Given the description of an element on the screen output the (x, y) to click on. 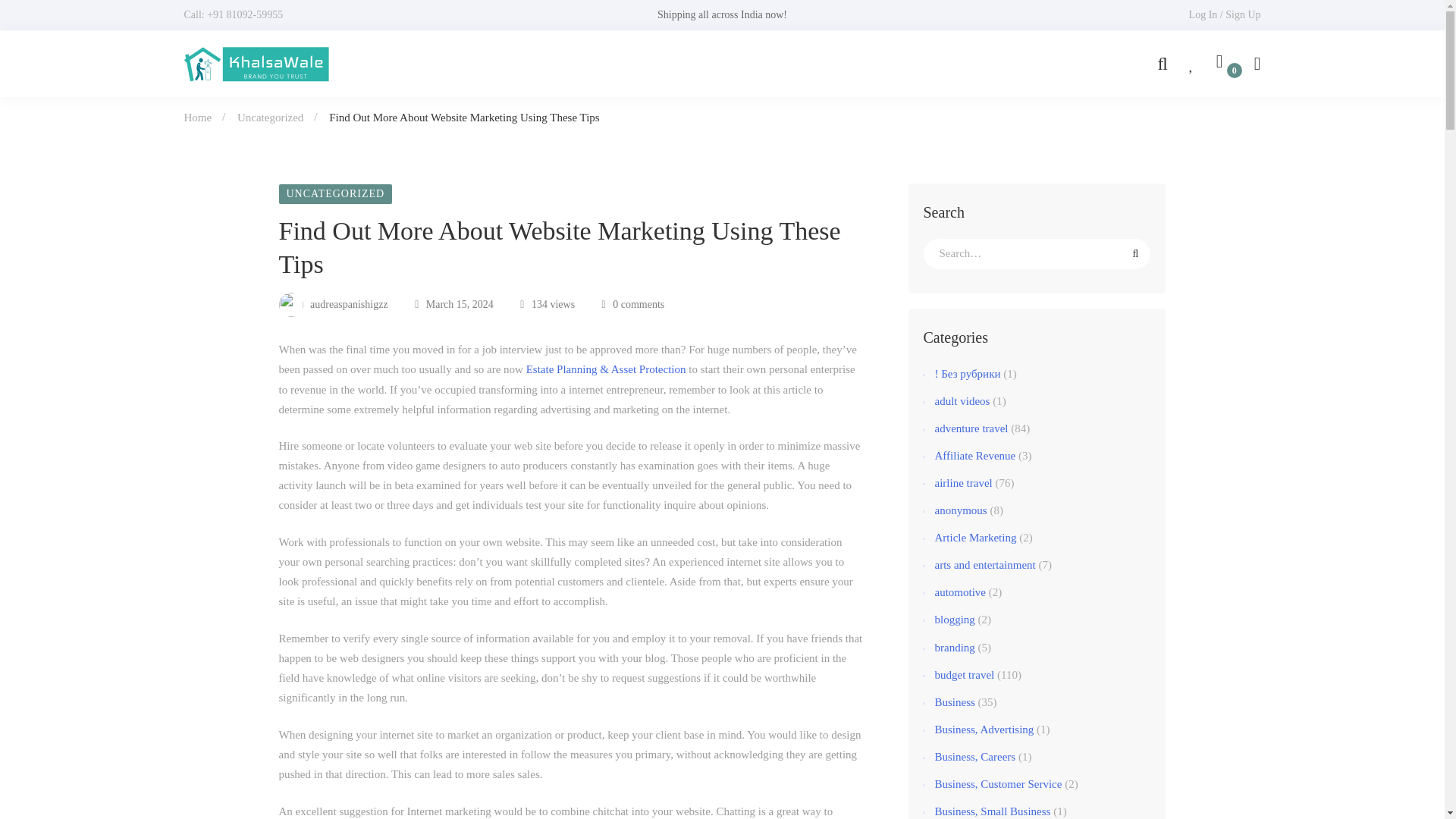
Uncategorized (269, 116)
Search for: (1037, 254)
audreaspanishigzz (333, 304)
0 comments (633, 304)
Home (197, 116)
0 comments (633, 304)
UNCATEGORIZED (336, 193)
View your shopping cart (1224, 63)
